Given the description of an element on the screen output the (x, y) to click on. 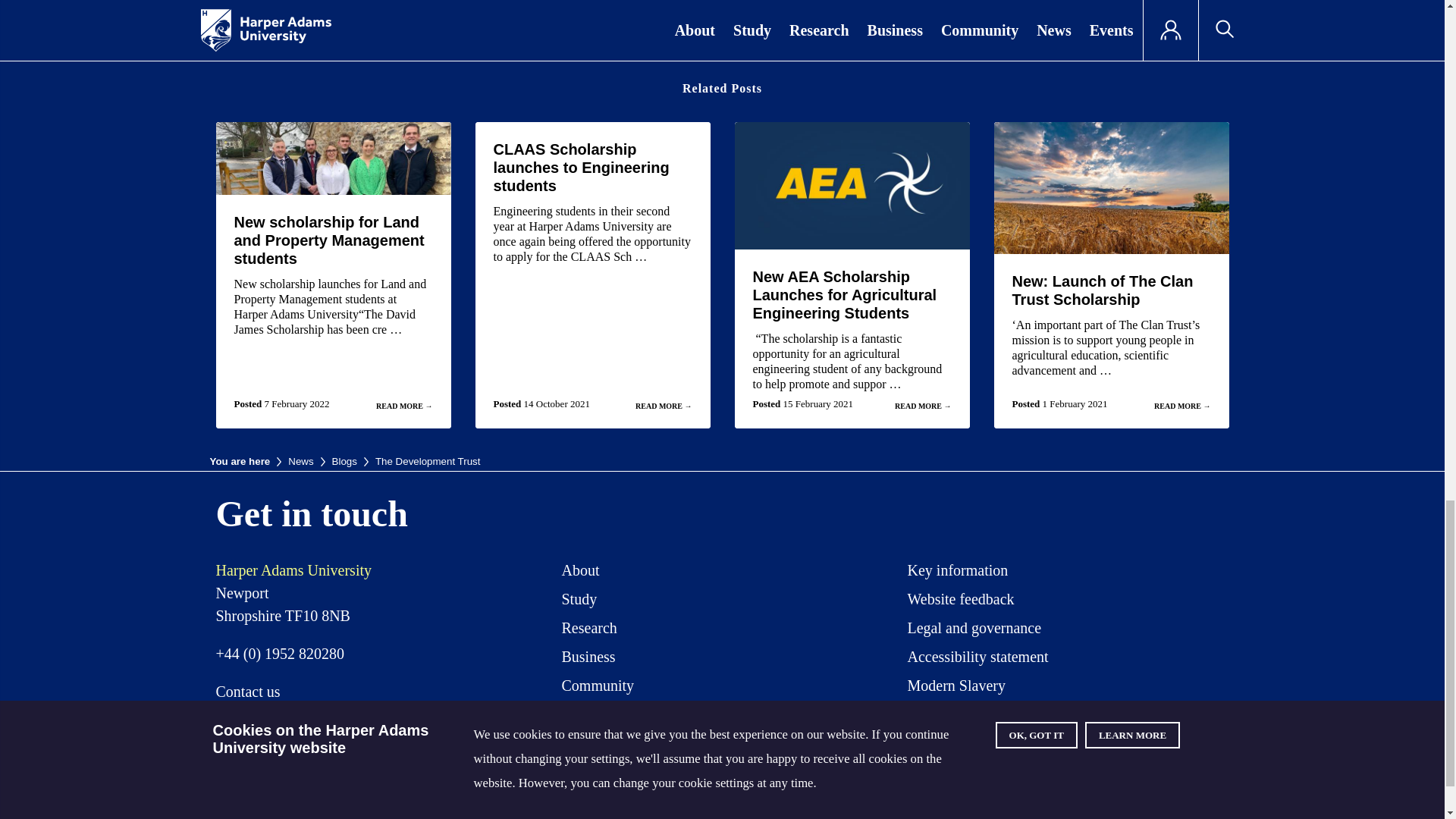
X - opens in a new window (932, 769)
Facebook - opens in a new window (989, 769)
Vimeo - opens in a new window (1101, 769)
LinkedIn - opens in a new window (1157, 769)
Instagram - opens in a new window (1044, 769)
Modern Slavery Act PDF - opens in a new window (955, 688)
